Given the description of an element on the screen output the (x, y) to click on. 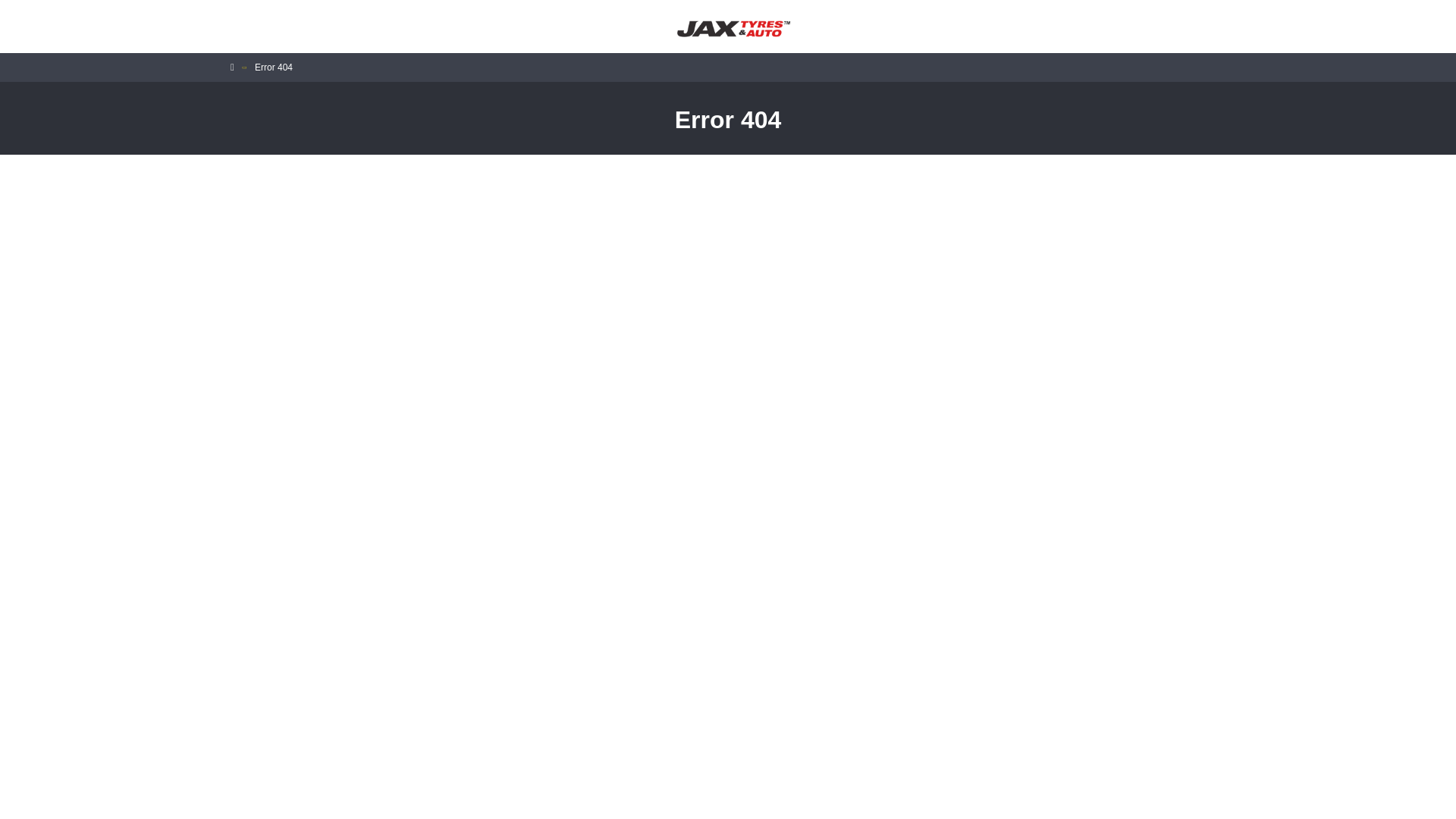
Error 404 Element type: text (273, 67)
Home Element type: text (232, 66)
